Given the description of an element on the screen output the (x, y) to click on. 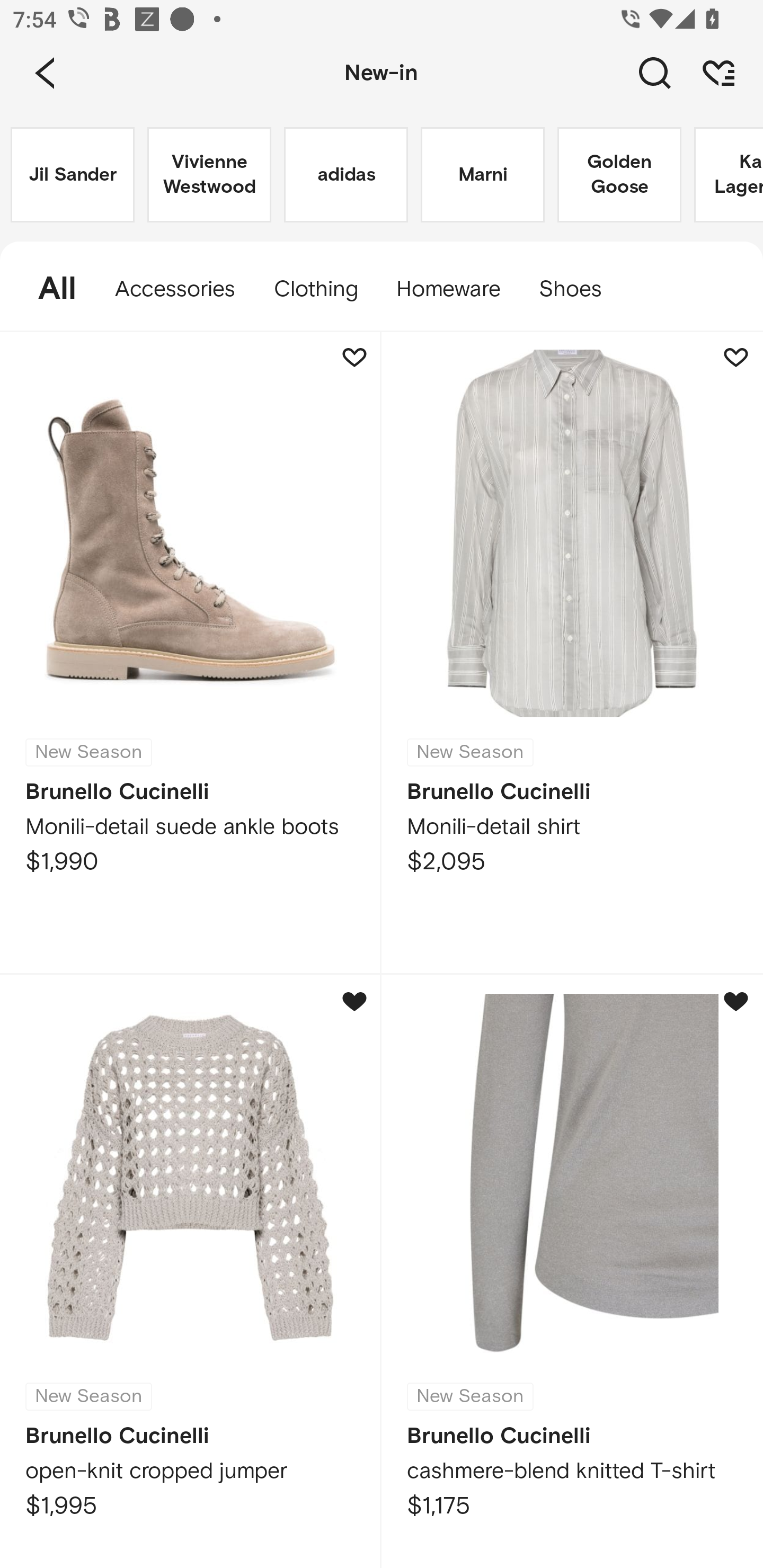
Jil Sander (72, 174)
Vivienne Westwood (209, 174)
adidas (345, 174)
Marni (482, 174)
Golden Goose (619, 174)
All (47, 288)
Accessories (174, 288)
Clothing (315, 288)
Homeware (447, 288)
Shoes (579, 288)
